Given the description of an element on the screen output the (x, y) to click on. 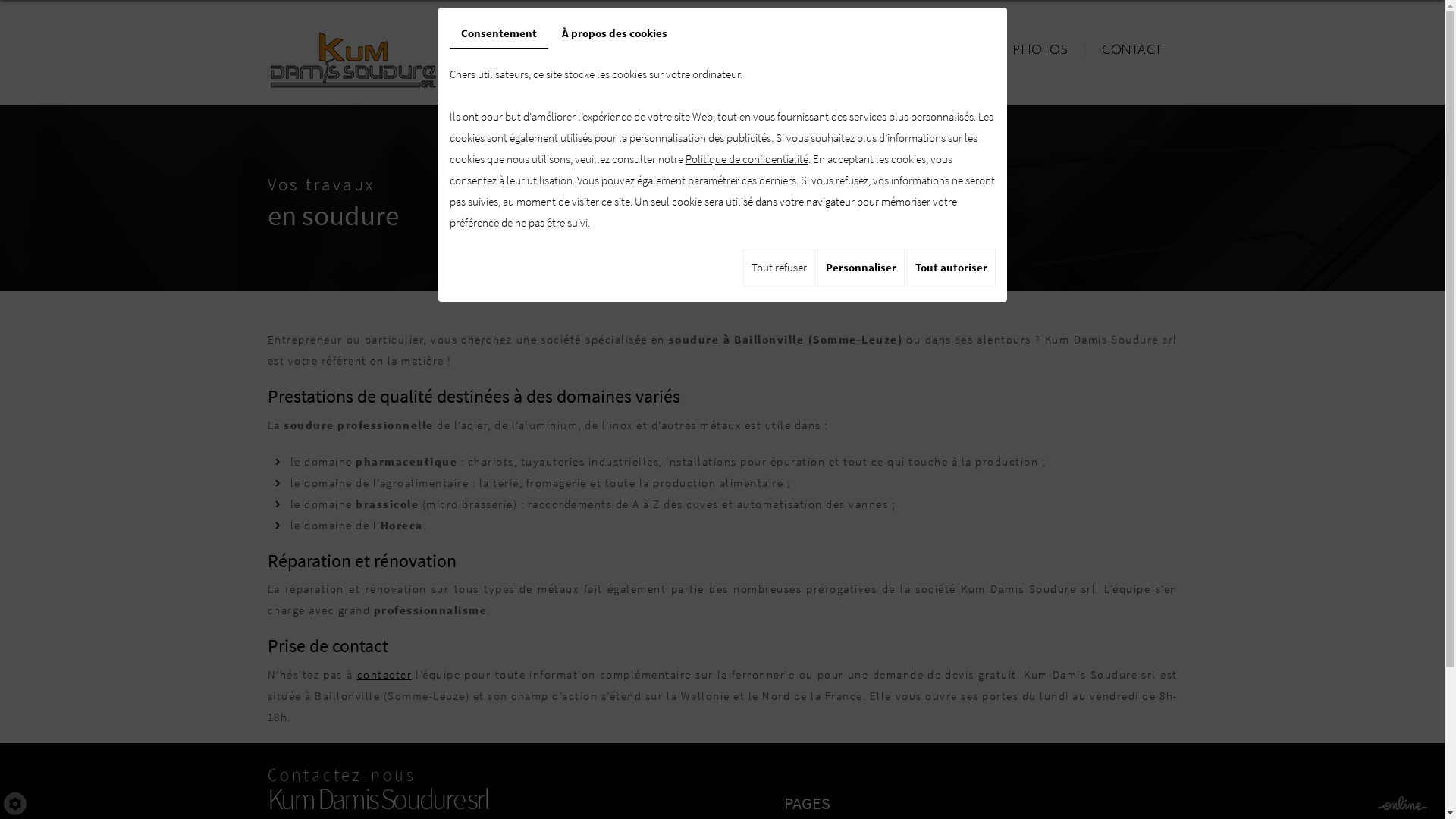
CONTACT Element type: text (1131, 49)
contacter Element type: text (384, 674)
Tout autoriser Element type: text (950, 267)
Tout refuser Element type: text (779, 267)
GALERIE PHOTOS Element type: text (1011, 49)
ACCUEIL Element type: text (632, 49)
Consentement Element type: text (497, 33)
SOUDURE Element type: text (889, 49)
Personnaliser Element type: text (860, 267)
